Given the description of an element on the screen output the (x, y) to click on. 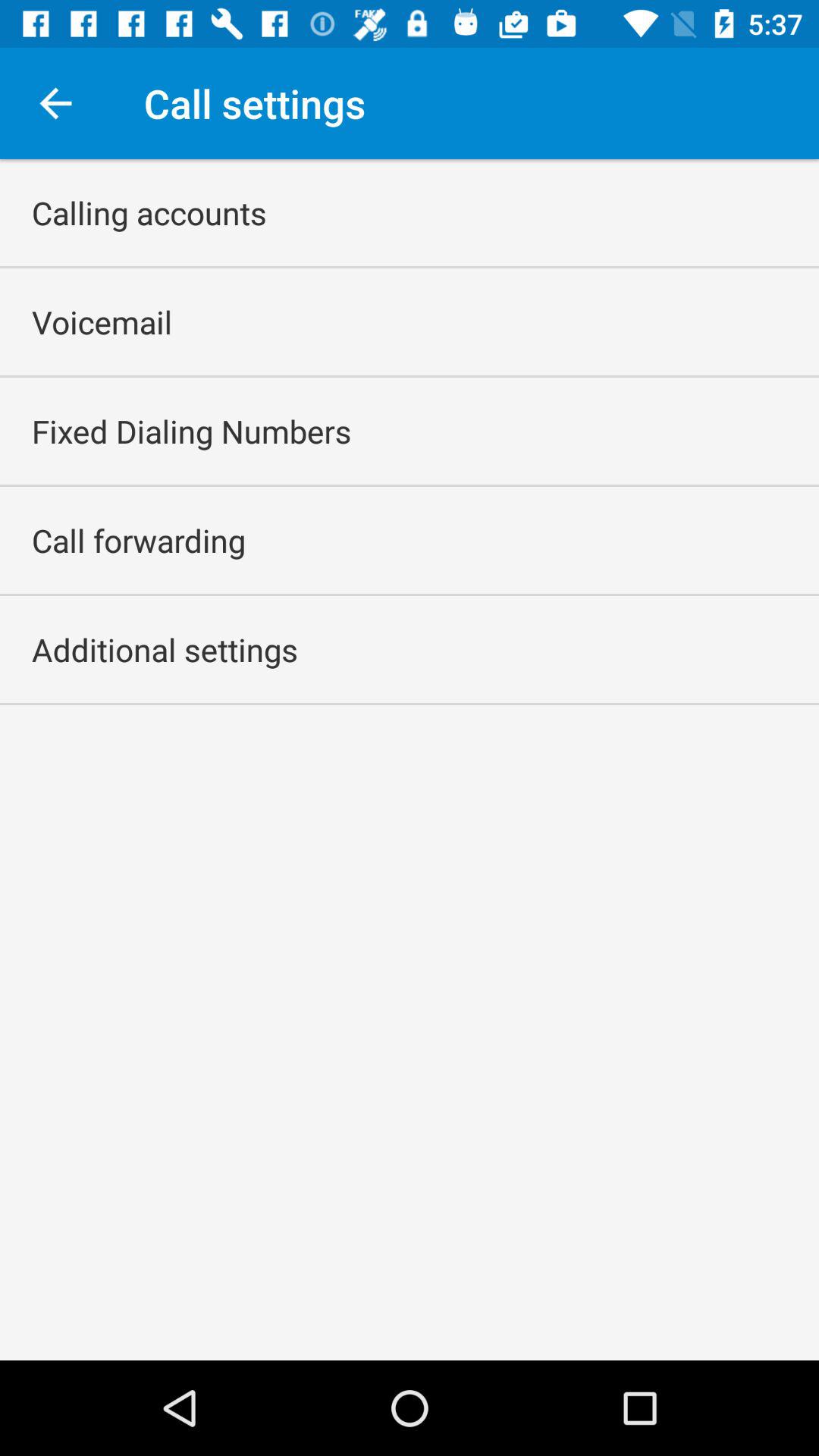
scroll until the calling accounts icon (148, 212)
